Given the description of an element on the screen output the (x, y) to click on. 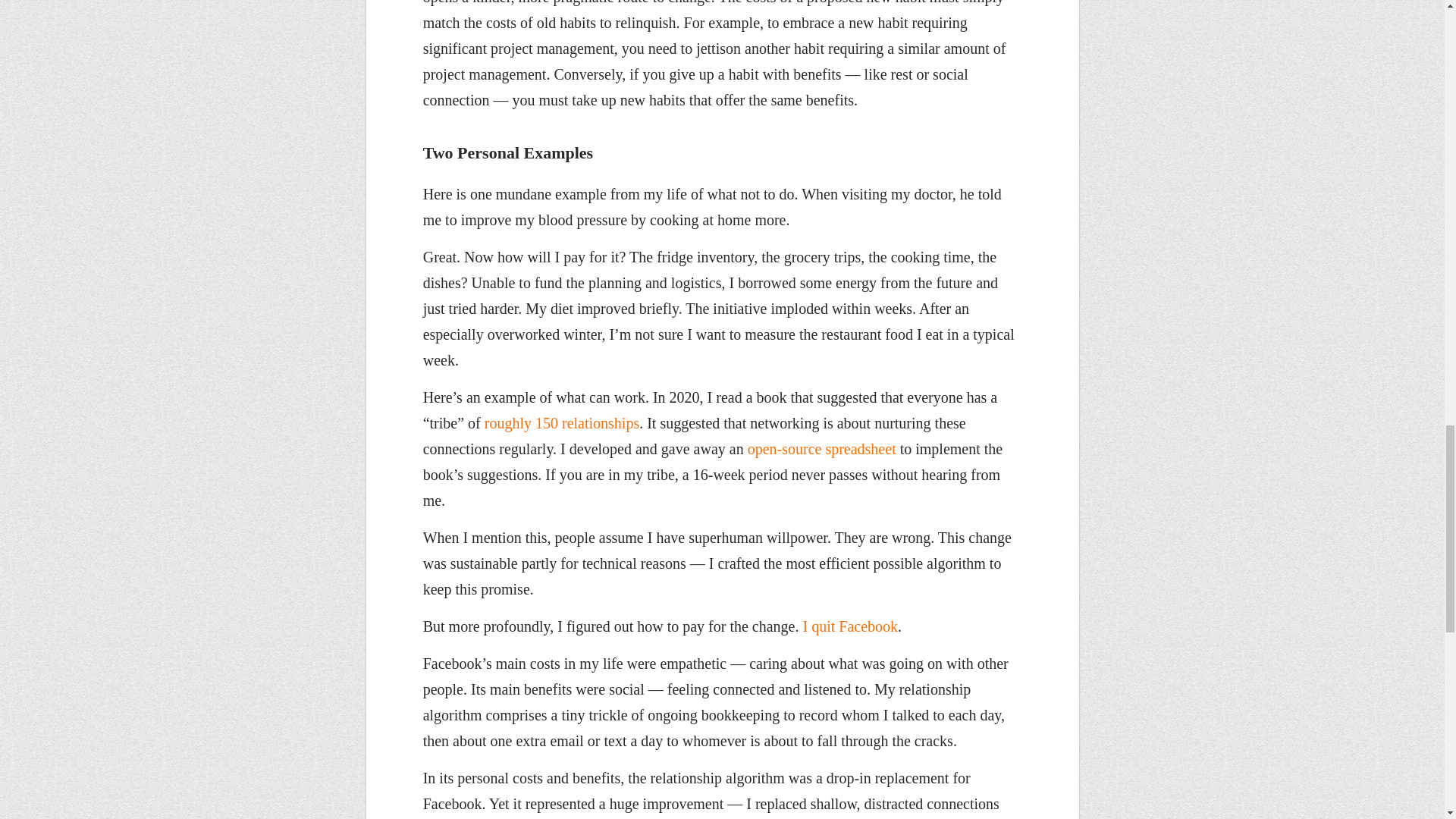
I quit Facebook (850, 626)
roughly 150 relationships (561, 422)
open-source spreadsheet (822, 448)
